Given the description of an element on the screen output the (x, y) to click on. 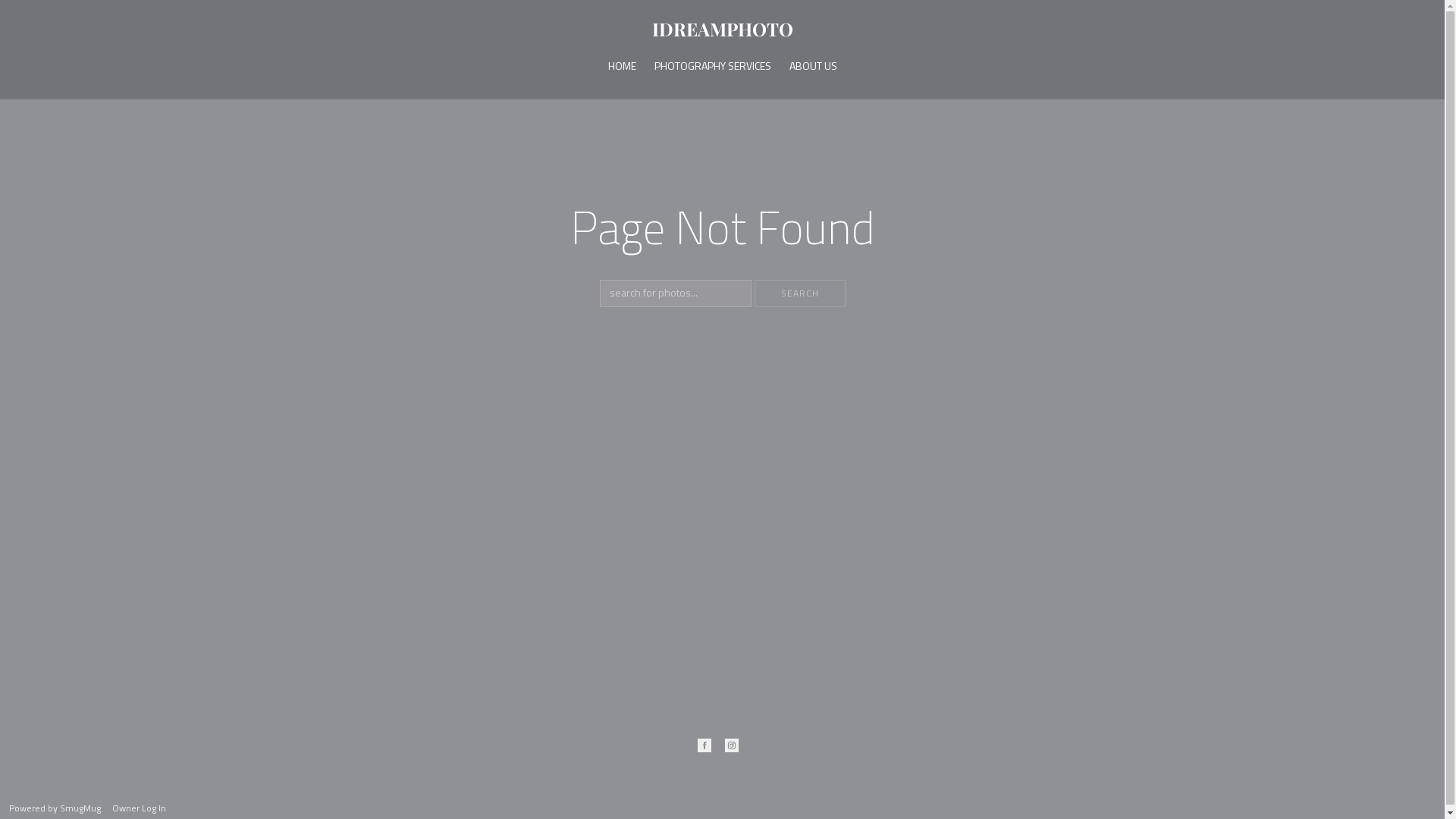
Owner Log In Element type: text (139, 807)
SEARCH Element type: text (798, 293)
Page Not Found Element type: text (722, 239)
Powered by SmugMug Element type: text (56, 807)
ABOUT US Element type: text (812, 65)
IDREAMPHOTO Element type: text (722, 32)
HOME Element type: text (622, 65)
PHOTOGRAPHY SERVICES Element type: text (711, 65)
